Given the description of an element on the screen output the (x, y) to click on. 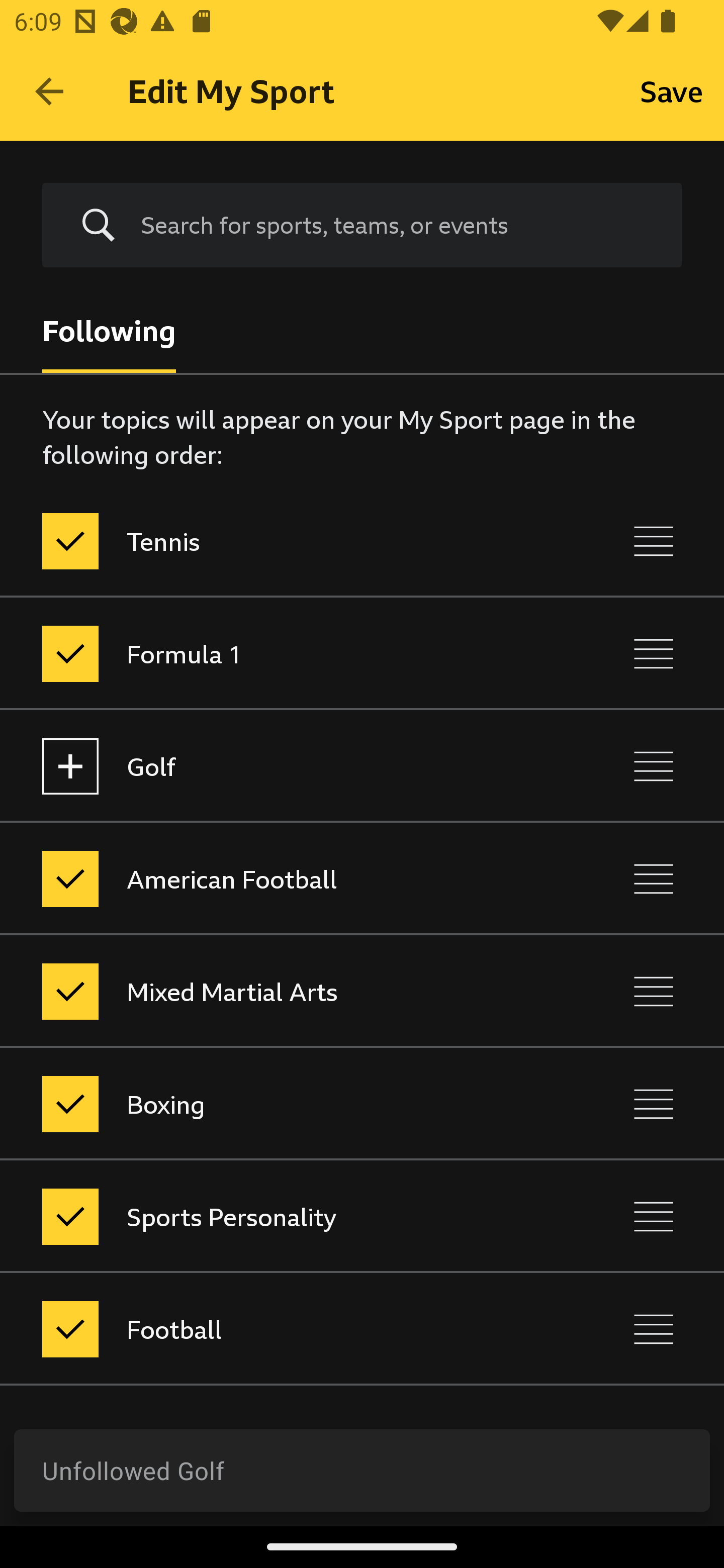
Navigate up (49, 91)
Save (671, 90)
Search for sports, teams, or events (361, 225)
Search for sports, teams, or events (396, 224)
Tennis (277, 540)
Reorder Tennis (653, 540)
Formula 1 (277, 653)
Reorder Formula 1 (653, 653)
Golf (277, 766)
Reorder Golf (653, 766)
American Football (277, 878)
Reorder American Football (653, 878)
Mixed Martial Arts (277, 990)
Reorder Mixed Martial Arts (653, 990)
Boxing (277, 1103)
Reorder Boxing (653, 1103)
Sports Personality (277, 1216)
Reorder Sports Personality (653, 1216)
Football (277, 1329)
Reorder Football (653, 1329)
